Given the description of an element on the screen output the (x, y) to click on. 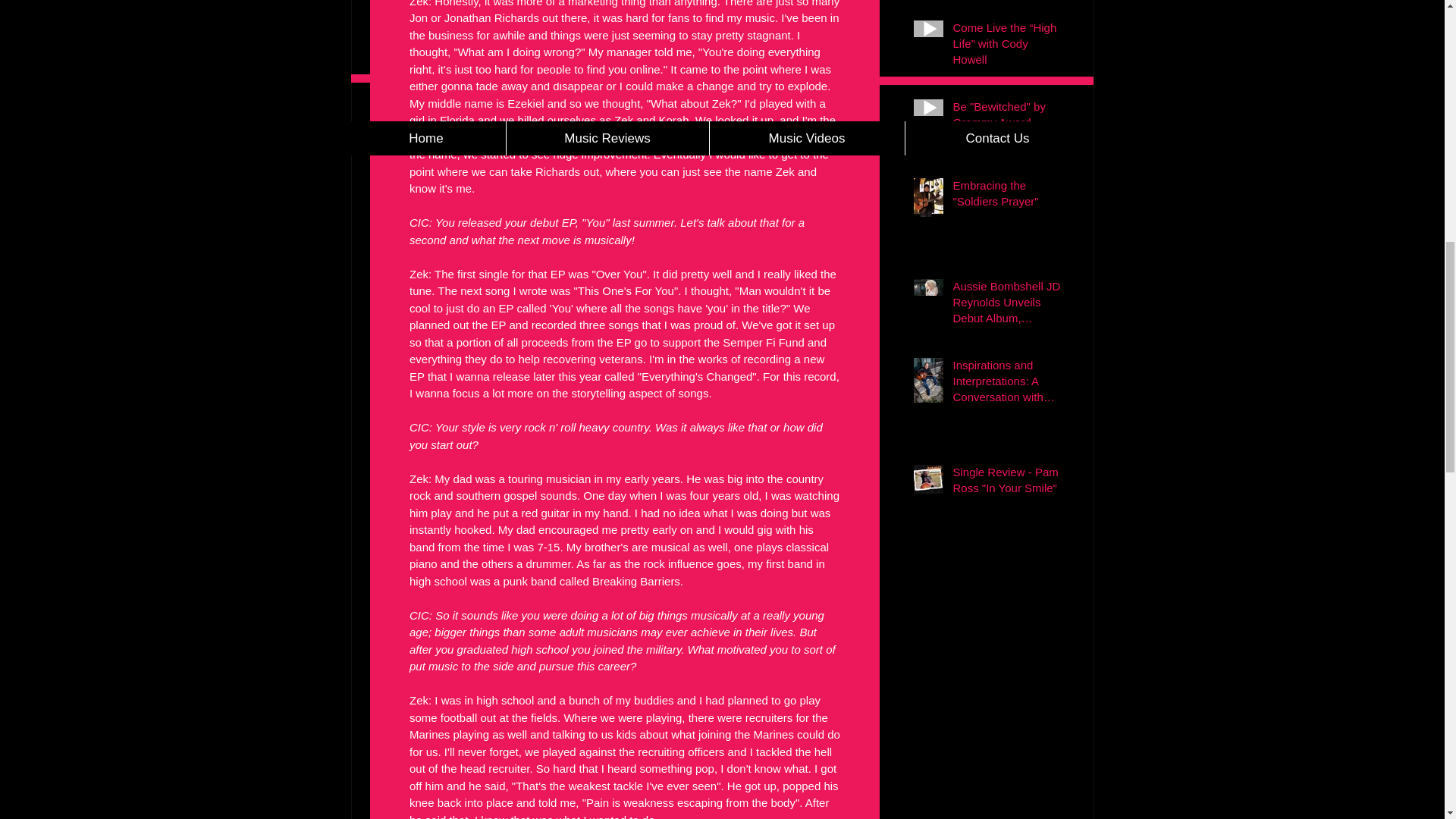
Be "Bewitched" by Grammy Award Winning Artist Laufey (1008, 125)
Aussie Bombshell JD Reynolds Unveils Debut Album, 'WHATEVER' (1008, 305)
Embracing the "Soldiers Prayer" (1008, 196)
